Given the description of an element on the screen output the (x, y) to click on. 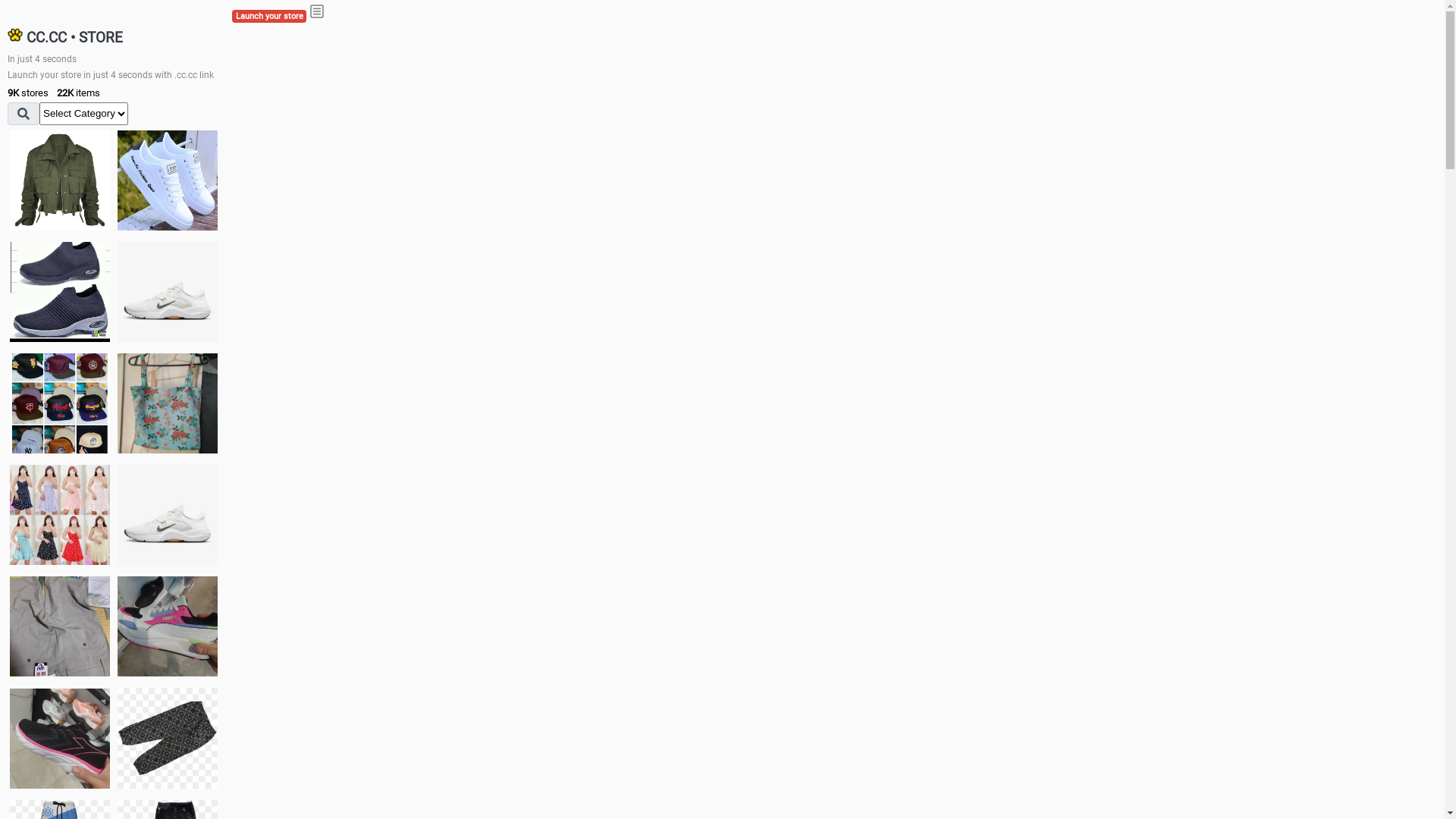
Ukay cloth Element type: hover (167, 403)
Dress/square nect top Element type: hover (59, 514)
Short pant Element type: hover (167, 737)
Zapatillas pumas Element type: hover (167, 626)
jacket Element type: hover (59, 180)
Things we need Element type: hover (59, 403)
Launch your store Element type: text (269, 15)
Shoes for boys Element type: hover (167, 291)
white shoes Element type: hover (167, 180)
shoes for boys Element type: hover (59, 291)
Zapatillas Element type: hover (59, 738)
Shoes Element type: hover (167, 514)
